Given the description of an element on the screen output the (x, y) to click on. 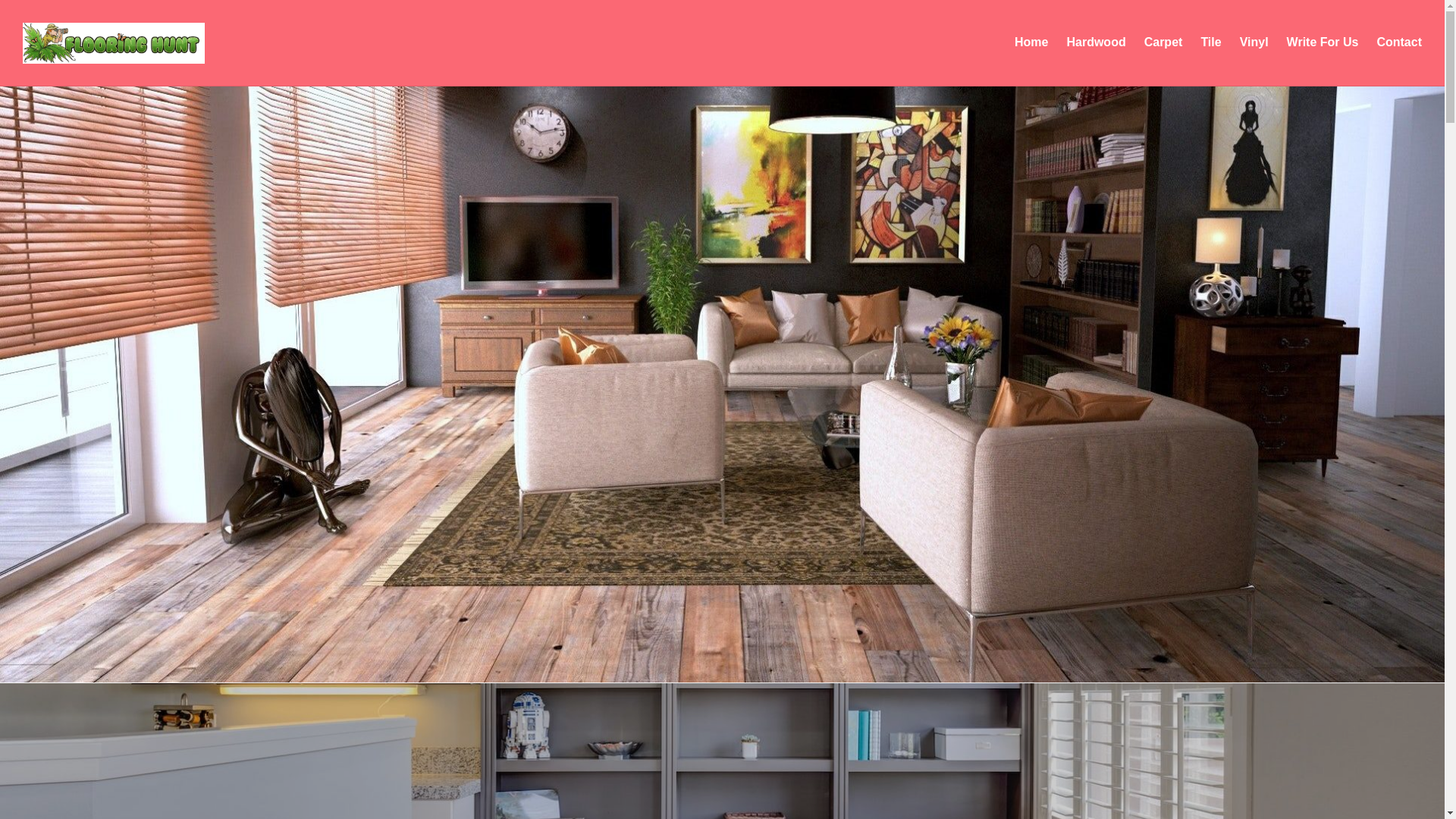
Home (1031, 43)
Write For Us (1322, 43)
Contact (1398, 43)
Hardwood (1095, 43)
Your Resource for All Things Flooring (193, 84)
Vinyl (1254, 43)
Carpet (1163, 43)
